Given the description of an element on the screen output the (x, y) to click on. 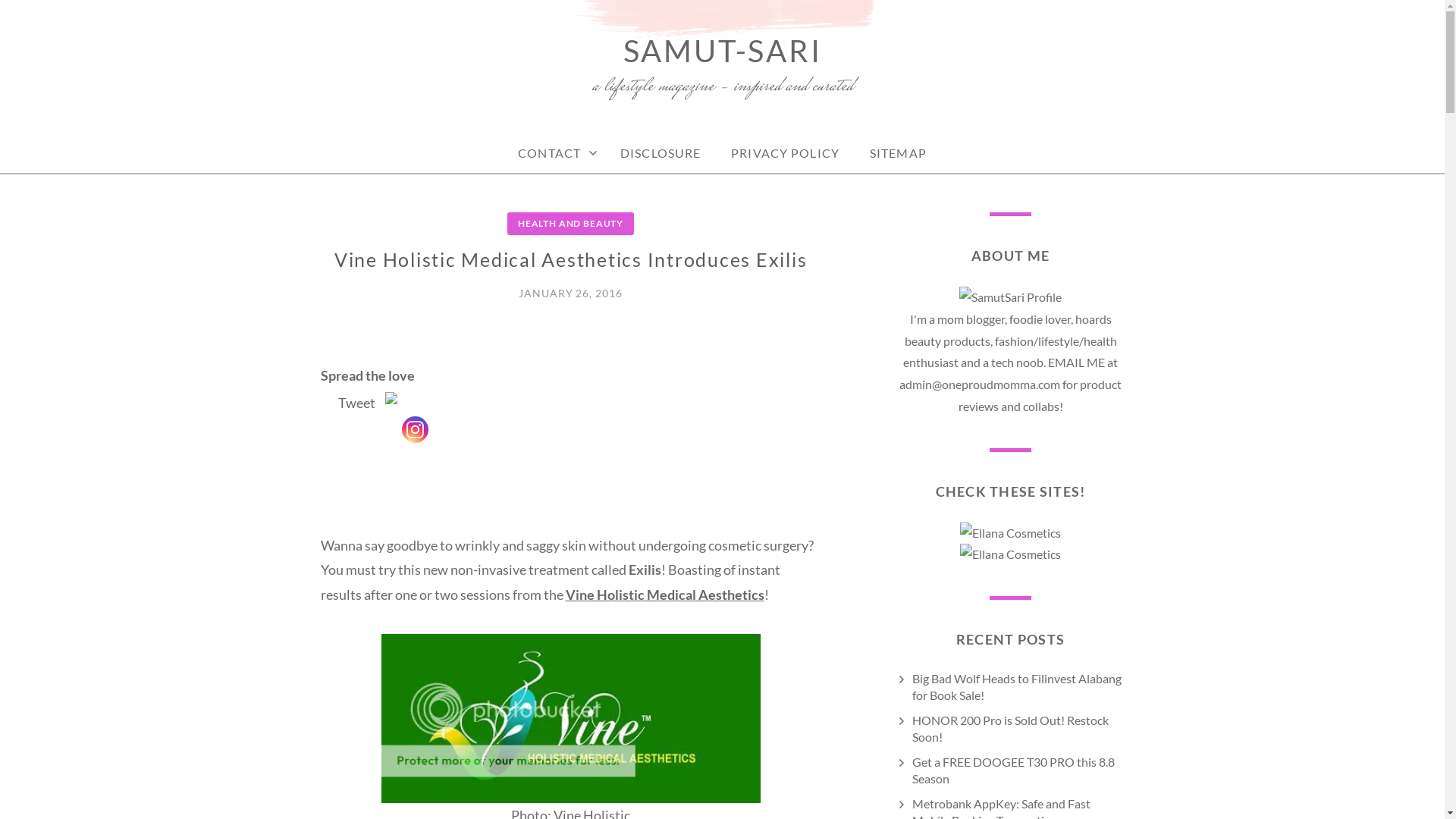
DISCLOSURE (660, 152)
Vine Holistic Medical Aesthetics (665, 594)
PRIVACY POLICY (785, 152)
Tweet (356, 402)
JANUARY 26, 2016 (570, 292)
SITEMAP (898, 152)
SAMUT-SARI (722, 51)
CONTACT (553, 152)
HEALTH AND BEAUTY (569, 223)
